Given the description of an element on the screen output the (x, y) to click on. 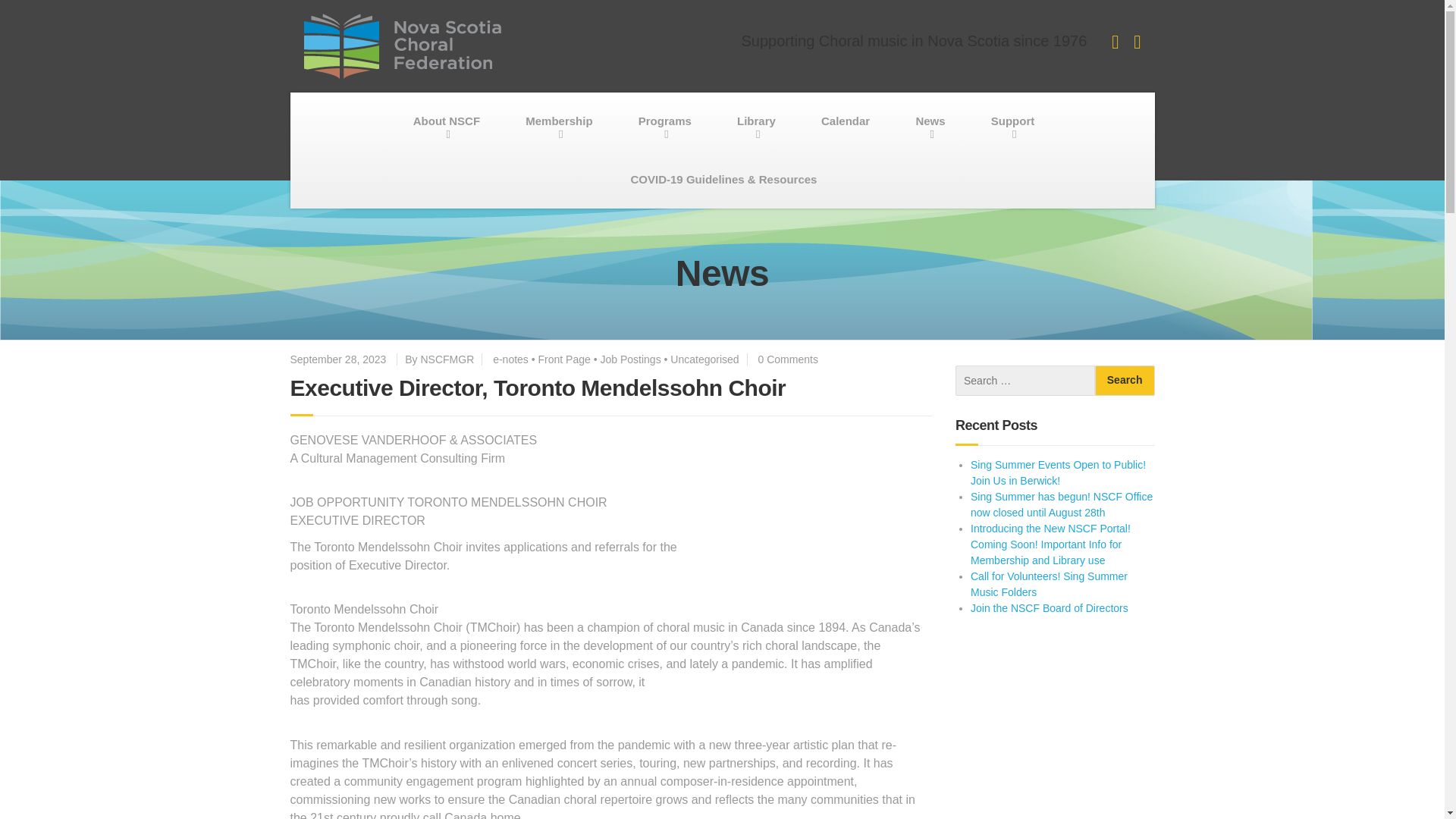
News (930, 121)
Membership (558, 121)
Programs (664, 121)
Calendar (844, 121)
About NSCF (446, 121)
Library (755, 121)
Search (1124, 380)
Search (1124, 380)
